Given the description of an element on the screen output the (x, y) to click on. 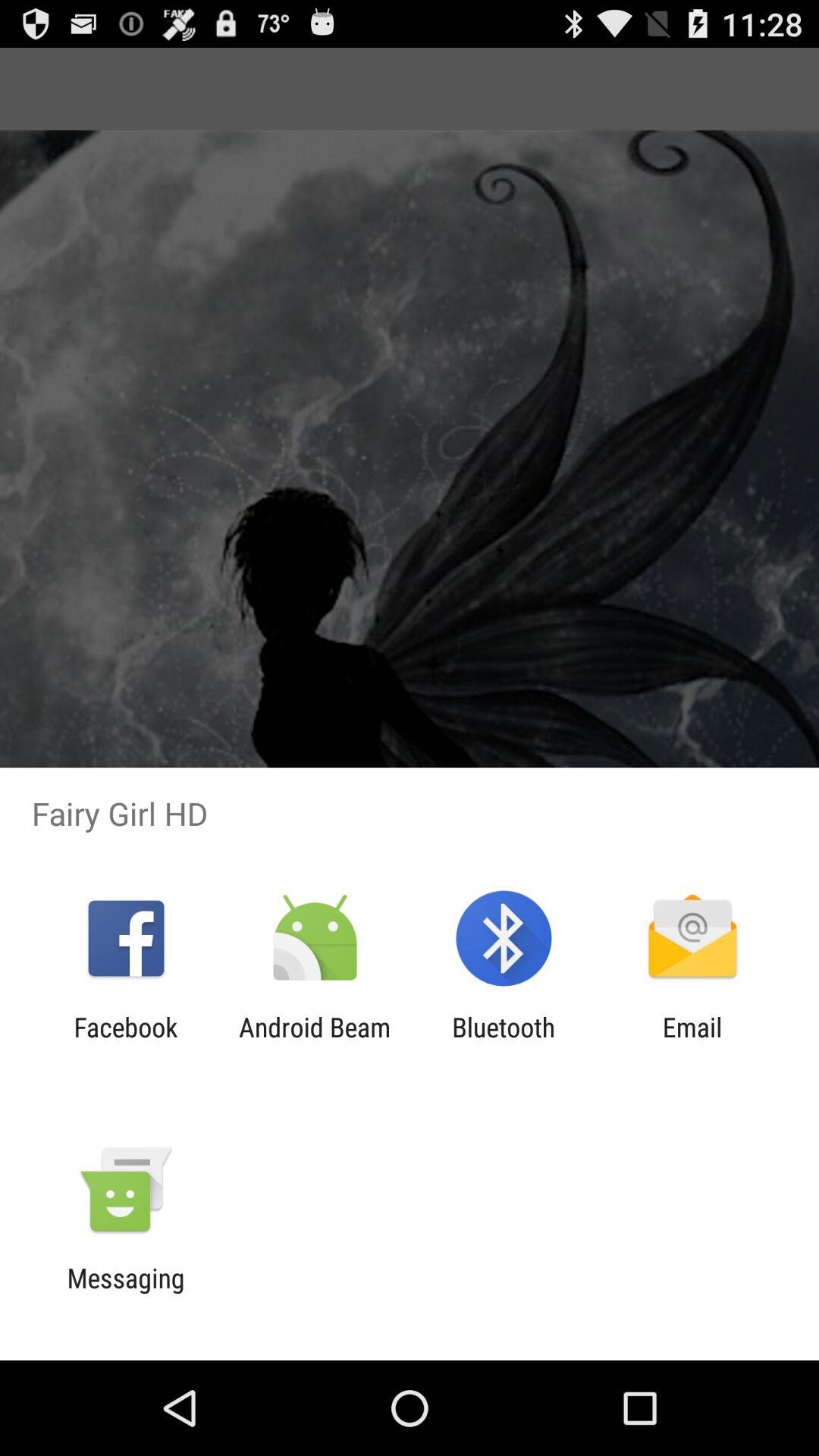
press the icon next to the email item (503, 1042)
